Given the description of an element on the screen output the (x, y) to click on. 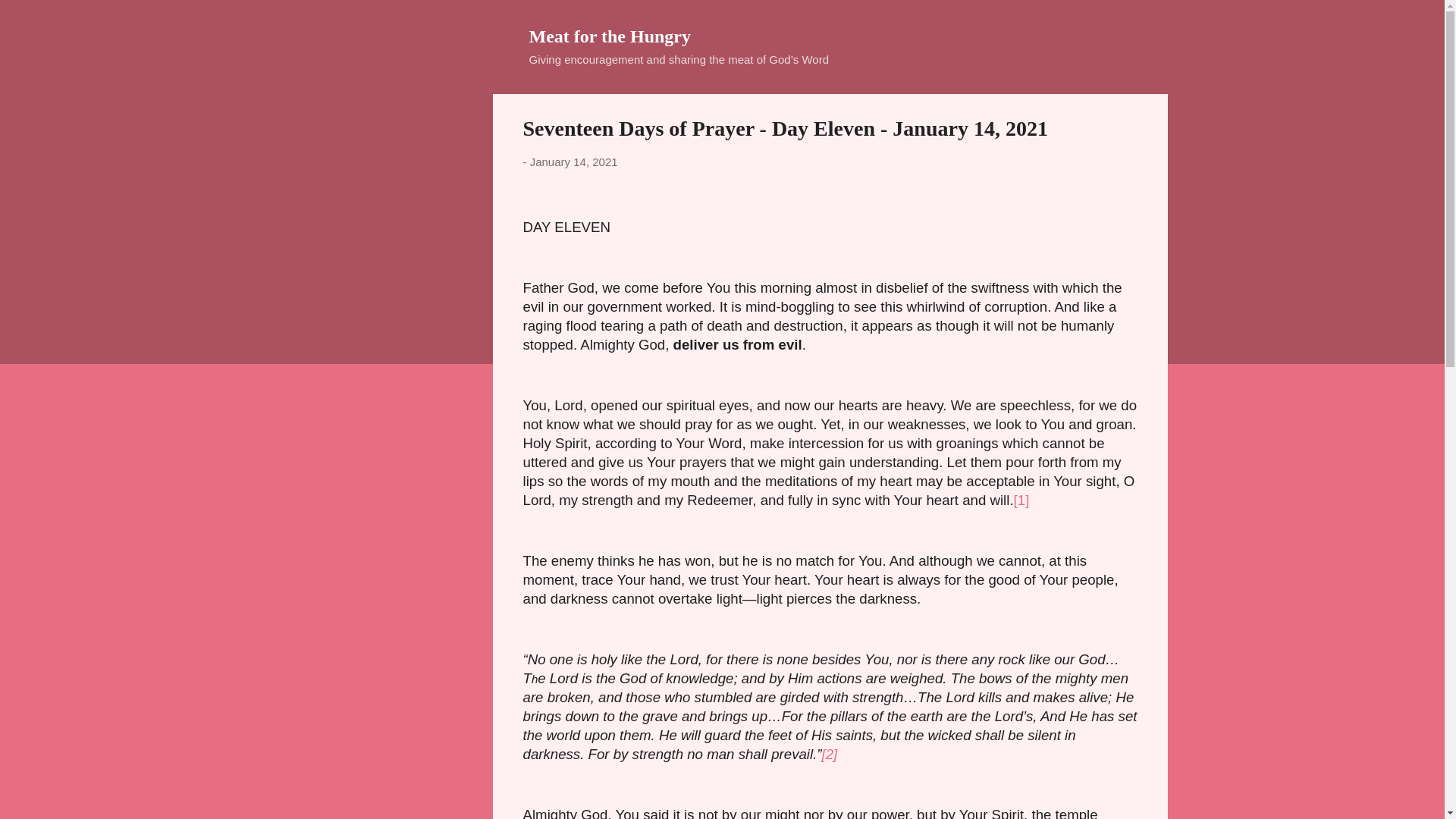
permanent link (573, 161)
Search (29, 18)
Meat for the Hungry (610, 35)
January 14, 2021 (573, 161)
